Given the description of an element on the screen output the (x, y) to click on. 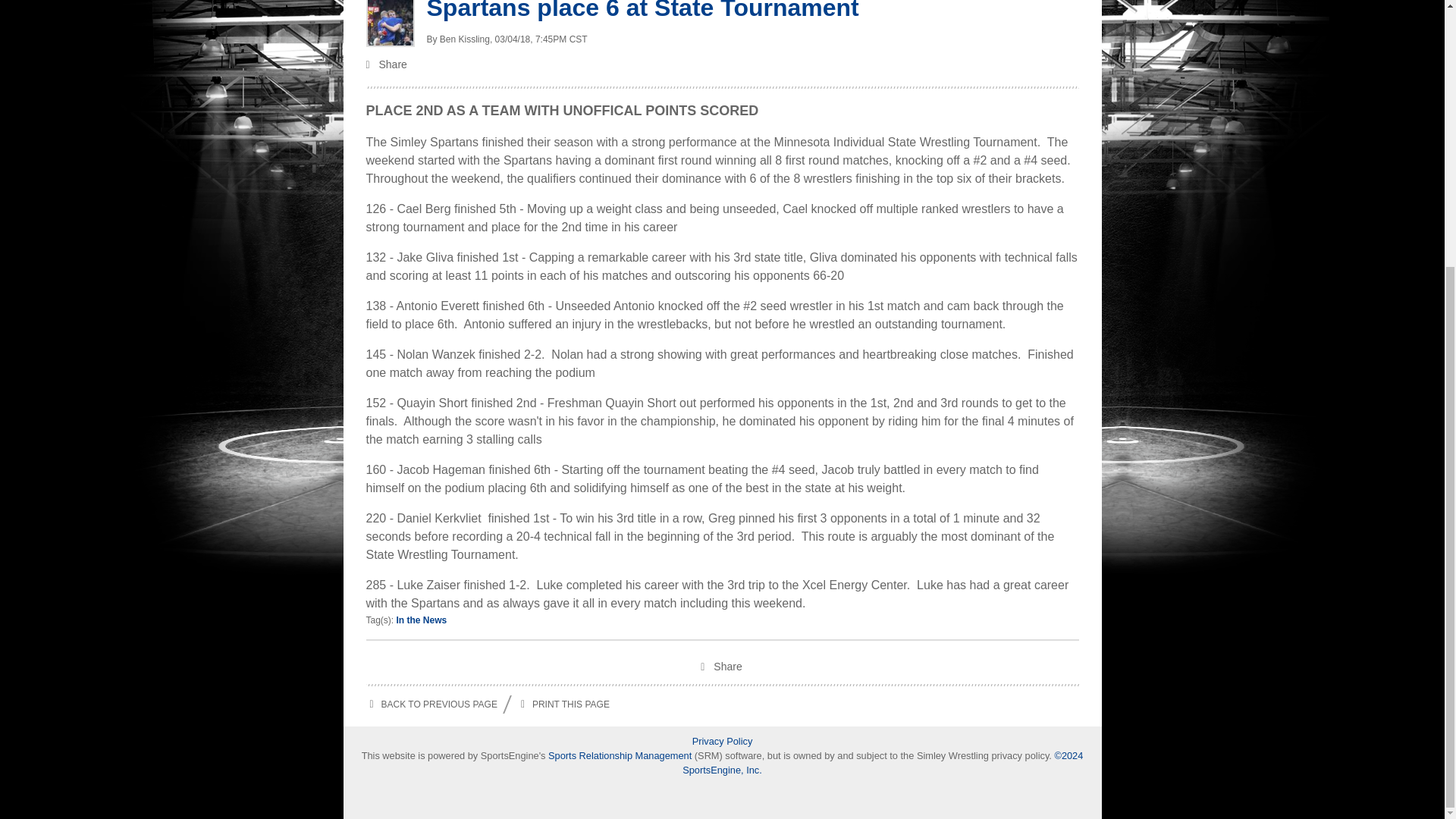
Share (721, 65)
State12.jpg (389, 23)
Share (721, 668)
PRINT THIS PAGE (563, 704)
Sports Relationship Management (621, 755)
In the News (421, 620)
BACK TO PREVIOUS PAGE (430, 704)
Privacy Policy (722, 740)
